Given the description of an element on the screen output the (x, y) to click on. 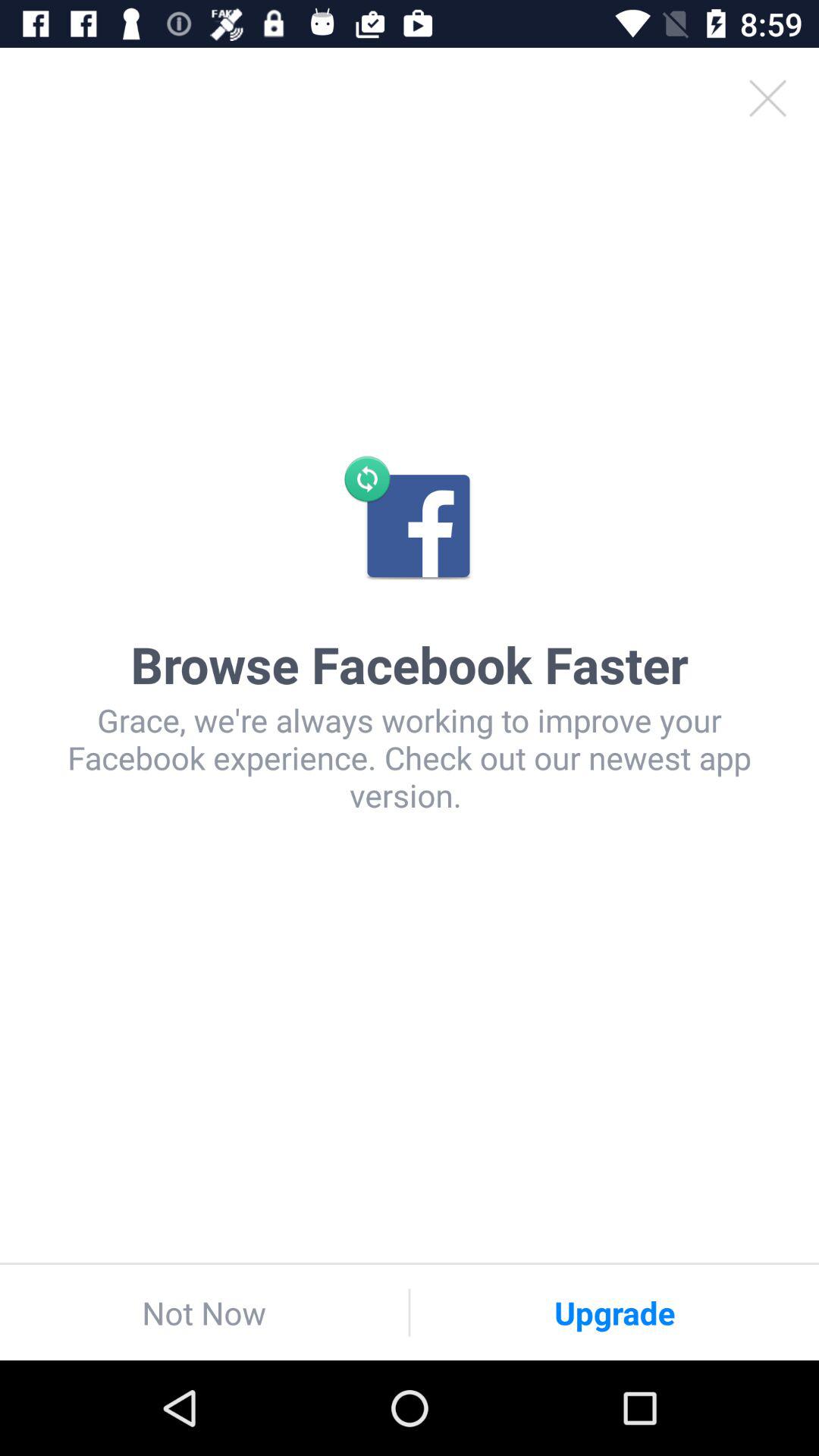
turn off upgrade icon (614, 1312)
